Given the description of an element on the screen output the (x, y) to click on. 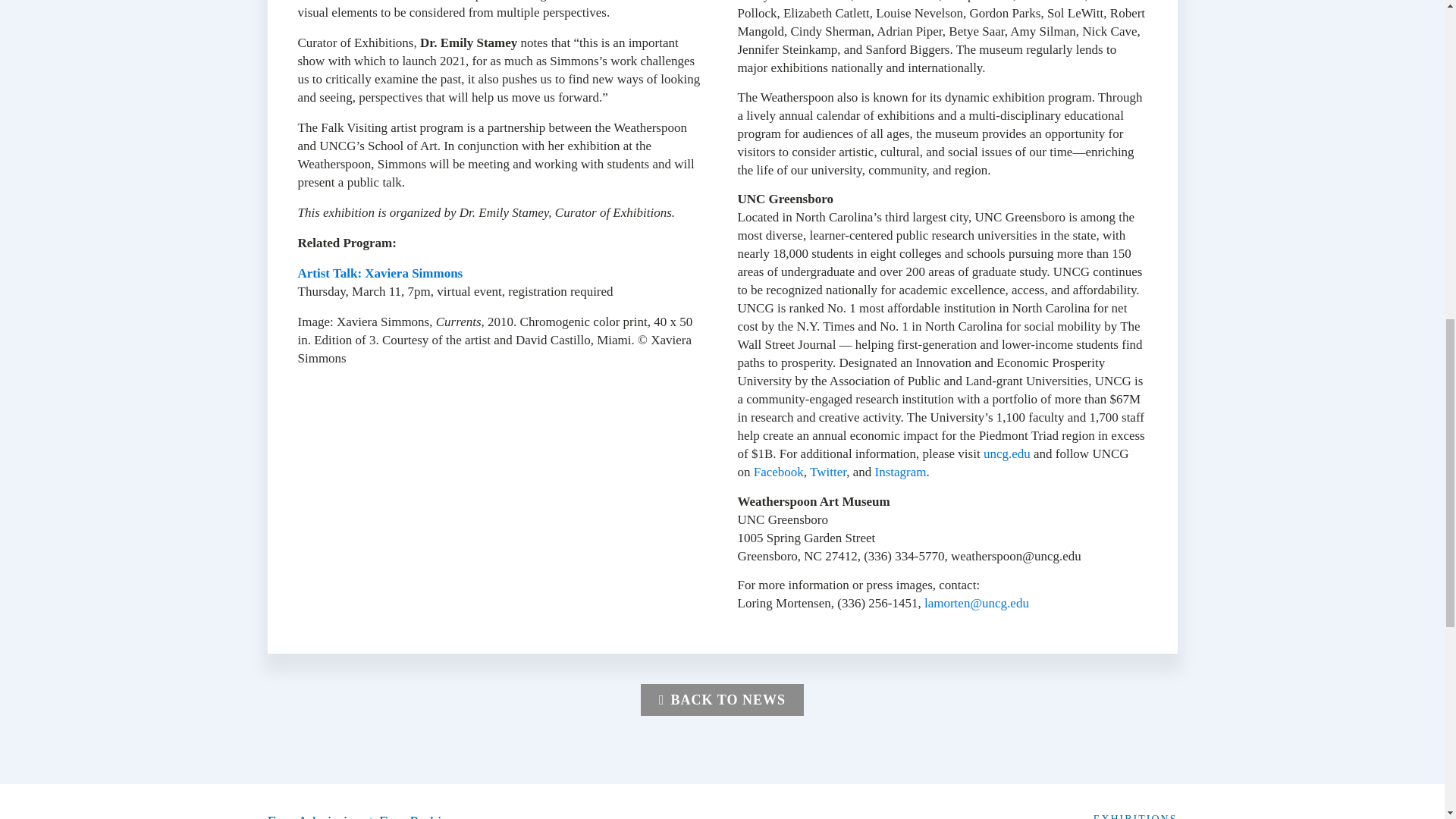
Instagram (900, 472)
uncg.edu (1007, 453)
Artist Talk: Xaviera Simmons (380, 273)
Facebook (778, 472)
BACK TO NEWS (721, 699)
Twitter (827, 472)
EXHIBITIONS (1135, 816)
